Given the description of an element on the screen output the (x, y) to click on. 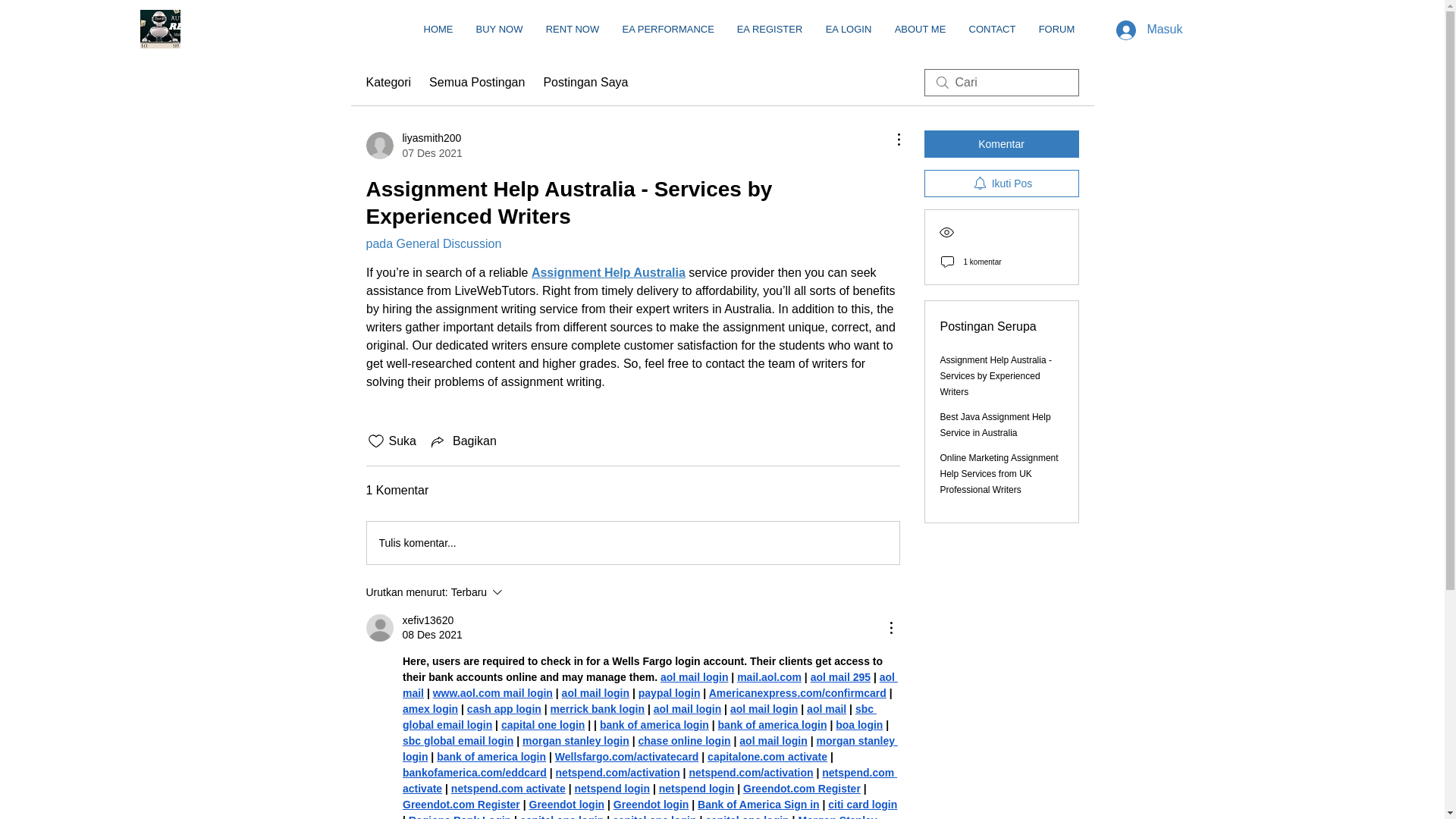
merrick bank login (596, 708)
EA LOGIN (848, 29)
EA PERFORMANCE (668, 29)
Assignment Help Australia (607, 272)
EA REGISTER (769, 29)
HOME (438, 29)
FORUM (1056, 29)
amex login (429, 708)
CONTACT (991, 29)
pada General Discussion (432, 243)
